Given the description of an element on the screen output the (x, y) to click on. 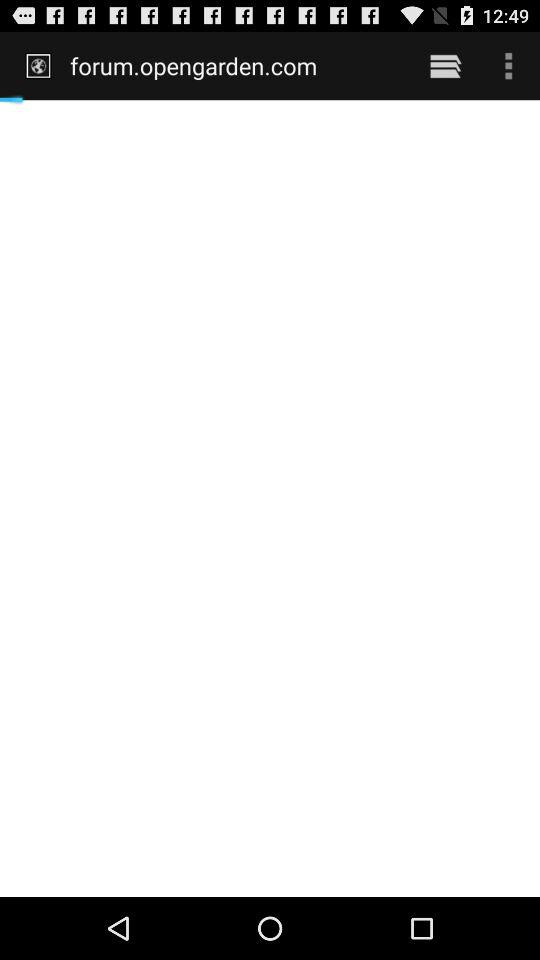
tap icon at the center (270, 497)
